Given the description of an element on the screen output the (x, y) to click on. 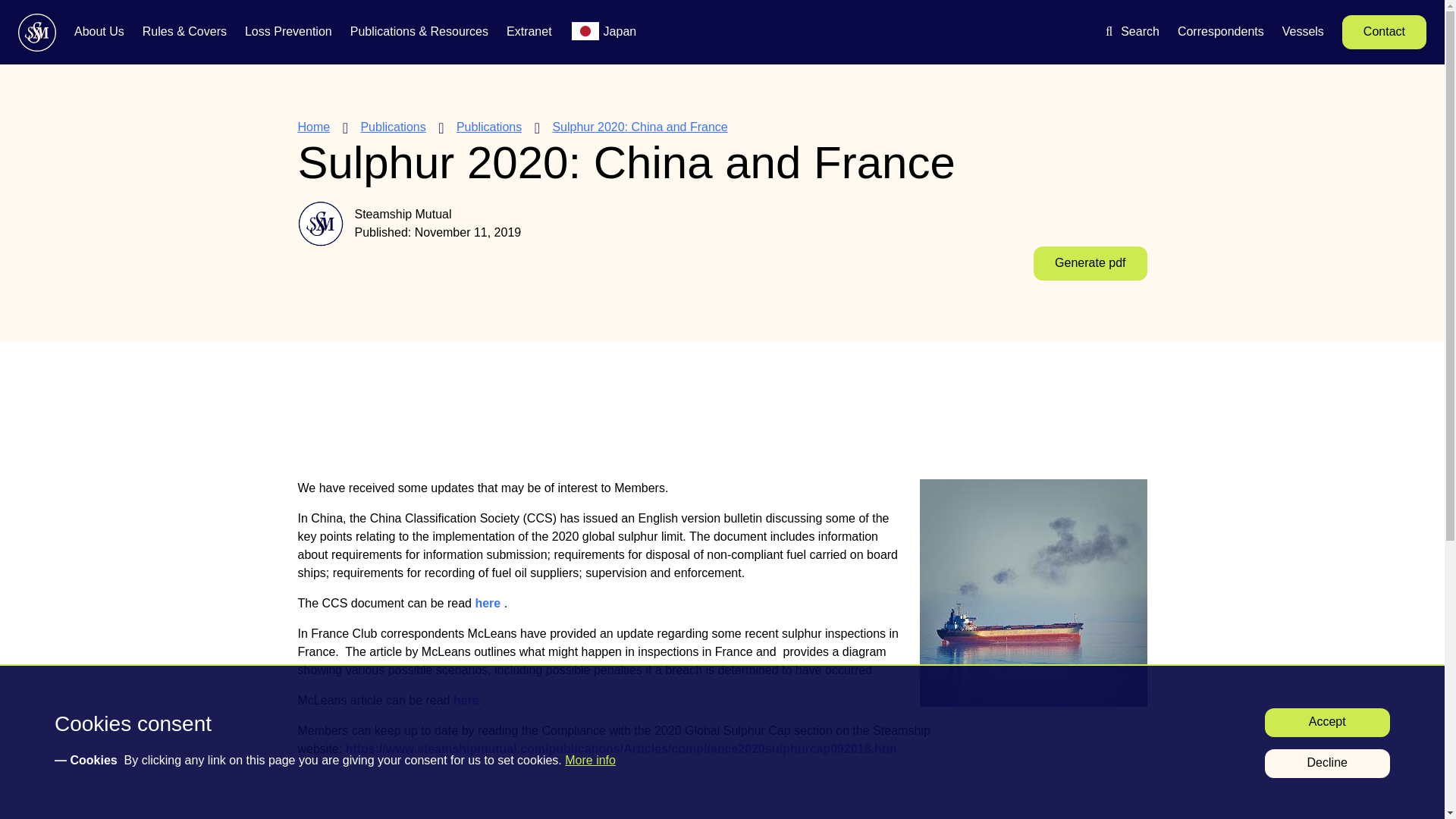
About Us (98, 32)
Rules and Covers (184, 32)
Japan (620, 32)
Extranet (528, 32)
Loss Prevention (287, 32)
About Us (98, 32)
Club Publications and Resource Information (418, 32)
Club Extranet (528, 32)
